Given the description of an element on the screen output the (x, y) to click on. 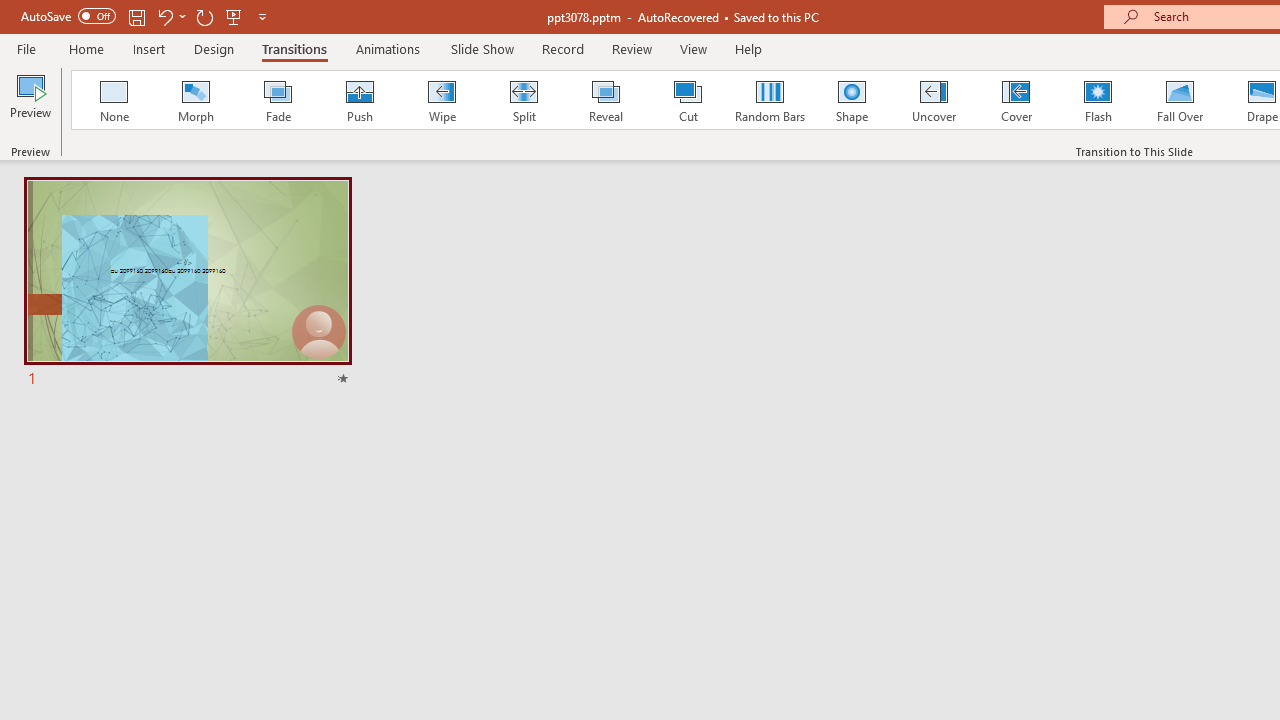
Morph (195, 100)
Reveal (605, 100)
Shape (852, 100)
